Given the description of an element on the screen output the (x, y) to click on. 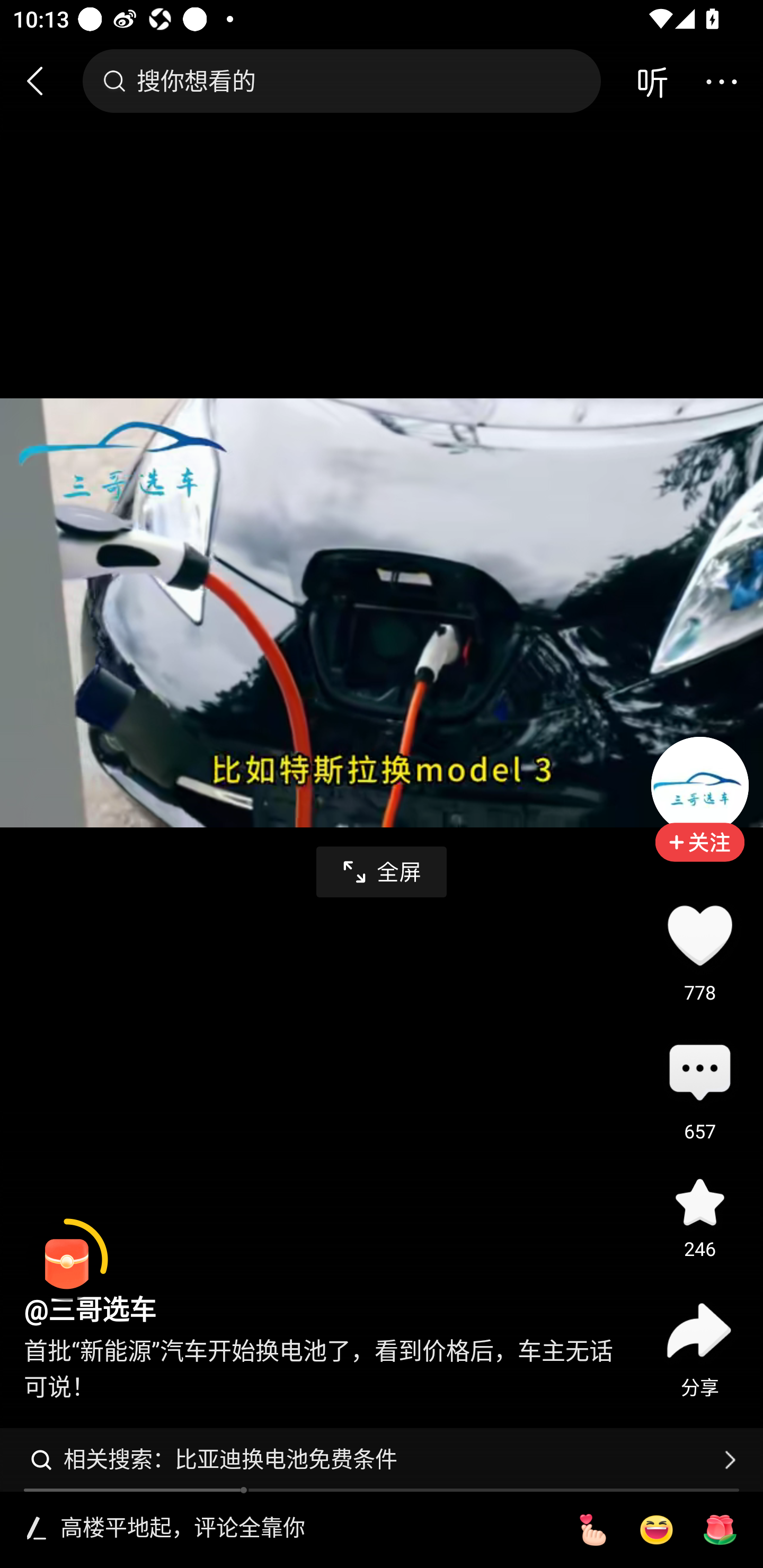
搜你想看的 搜索框，搜你想看的 (341, 80)
返回 (43, 80)
音频 (651, 80)
更多操作 (720, 80)
头像 (699, 785)
加关注 (699, 855)
全屏播放 (381, 871)
点赞778 778 (699, 935)
评论657 评论 657 (699, 1074)
收藏 246 (699, 1201)
阅读赚金币 (66, 1259)
分享 (699, 1330)
相关搜索：比亚迪换电池免费条件 (381, 1459)
高楼平地起，评论全靠你 (305, 1529)
[比心] (592, 1530)
[大笑] (656, 1530)
[玫瑰] (719, 1530)
